Given the description of an element on the screen output the (x, y) to click on. 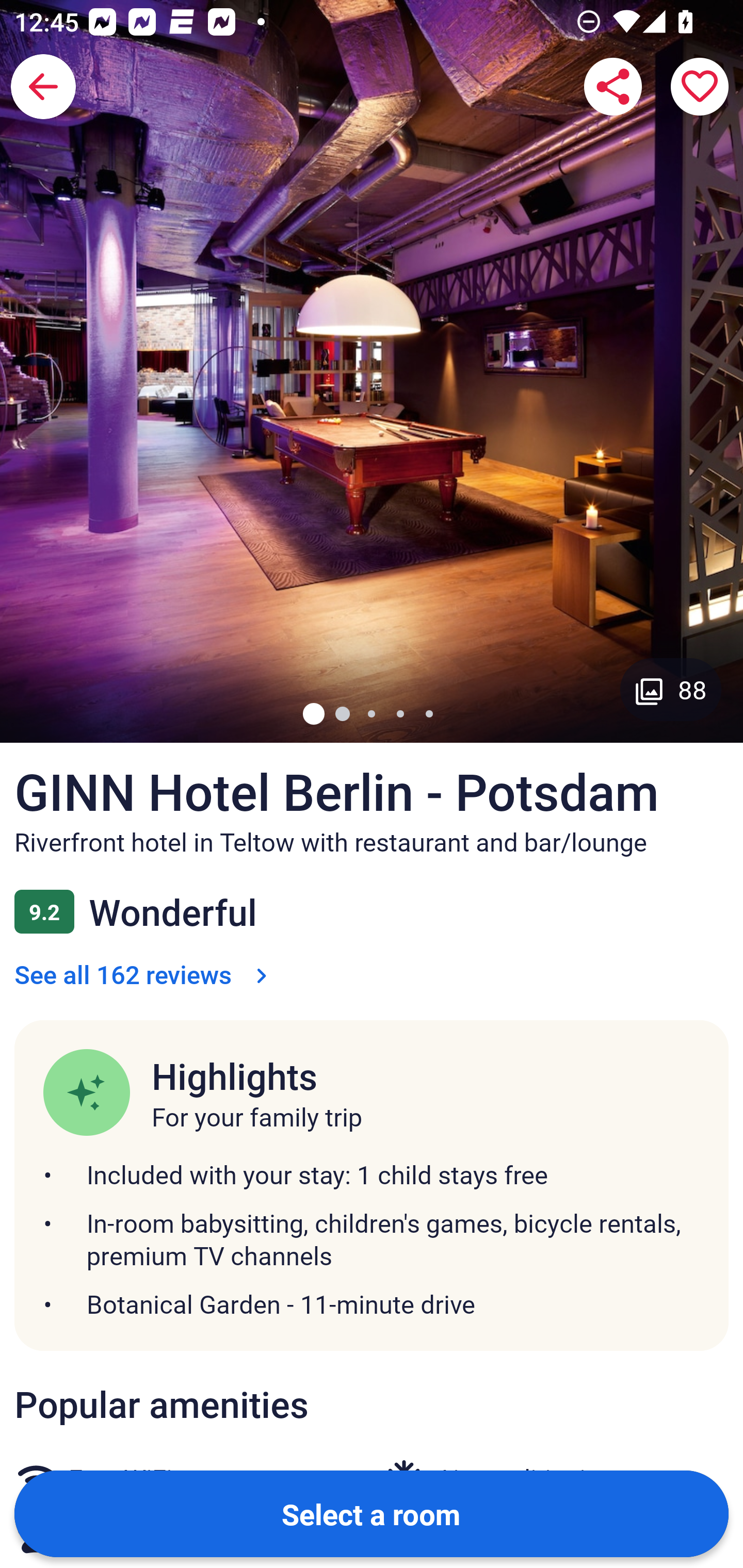
Back (43, 86)
Save property to a trip (699, 86)
Share GINN Hotel Berlin - Potsdam (612, 87)
Gallery button with 88 images (670, 689)
See all 162 reviews See all 162 reviews Link (144, 974)
Select a room Button Select a room (371, 1513)
